Given the description of an element on the screen output the (x, y) to click on. 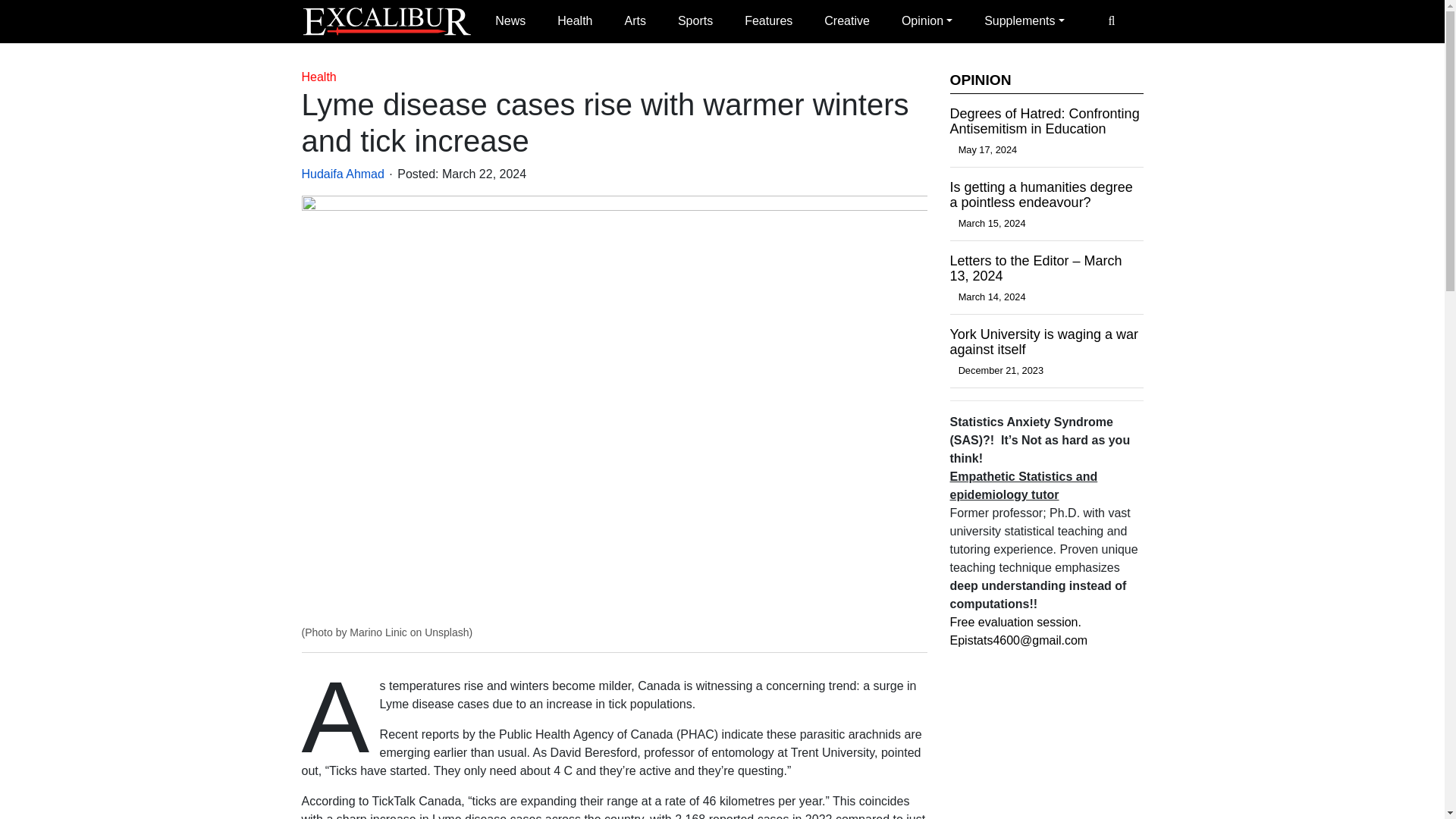
Opinion (926, 21)
Hudaifa Ahmad (342, 174)
Health (318, 76)
Arts (634, 21)
News (510, 21)
Features (768, 21)
Creative (847, 21)
Sports (695, 21)
Sports (695, 21)
Supplements (1023, 21)
